Given the description of an element on the screen output the (x, y) to click on. 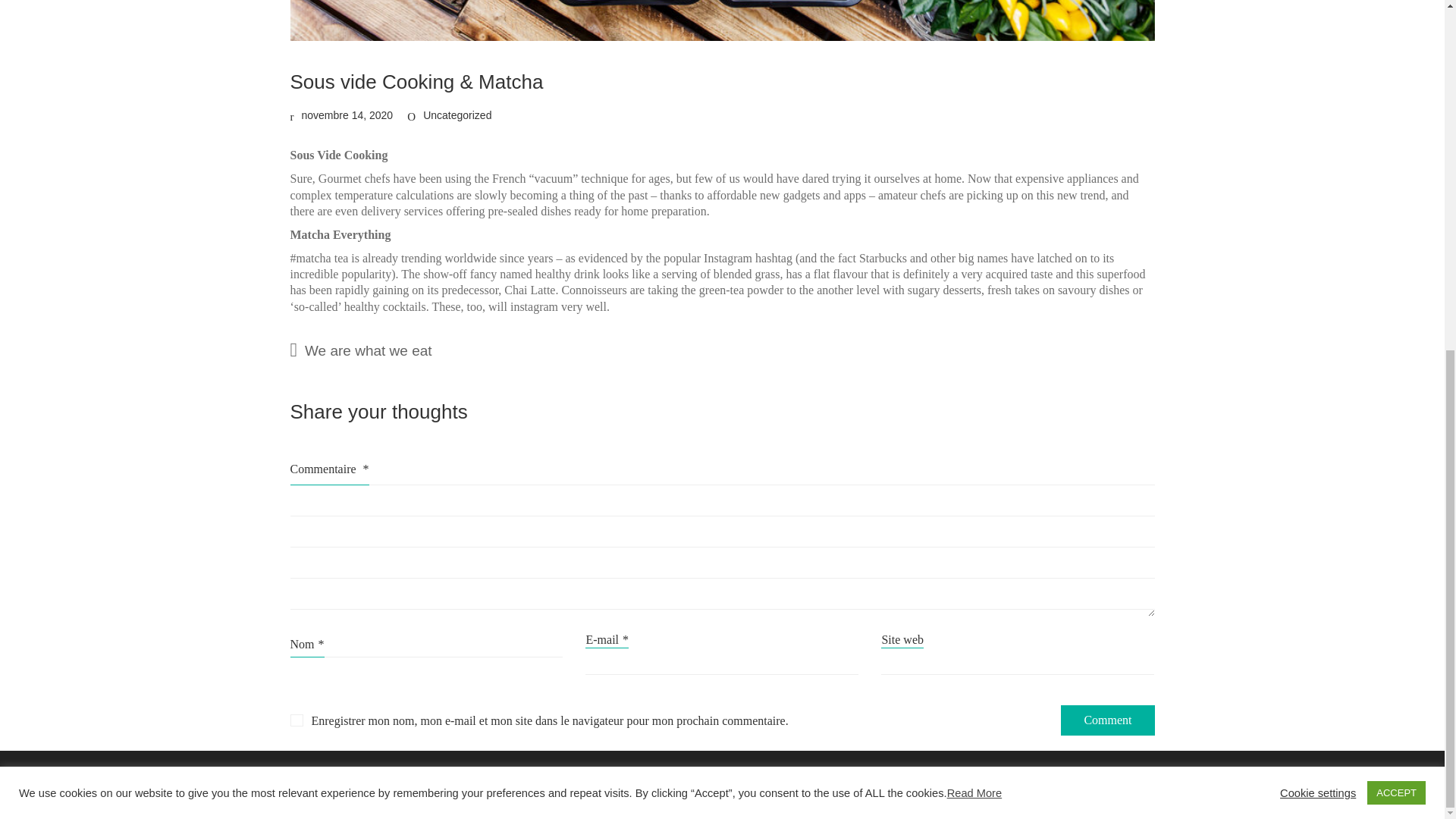
Instagram (918, 780)
Read More (975, 184)
yes (295, 720)
Cookie settings (1317, 183)
Behance (1035, 780)
Uncategorized (457, 115)
Comment (1107, 720)
Facebook (796, 780)
Foursquare (1106, 780)
Vimeo (978, 780)
Twitter (856, 780)
Twitter (856, 780)
Facebook (796, 780)
Vimeo (978, 780)
ACCEPT (1396, 184)
